Given the description of an element on the screen output the (x, y) to click on. 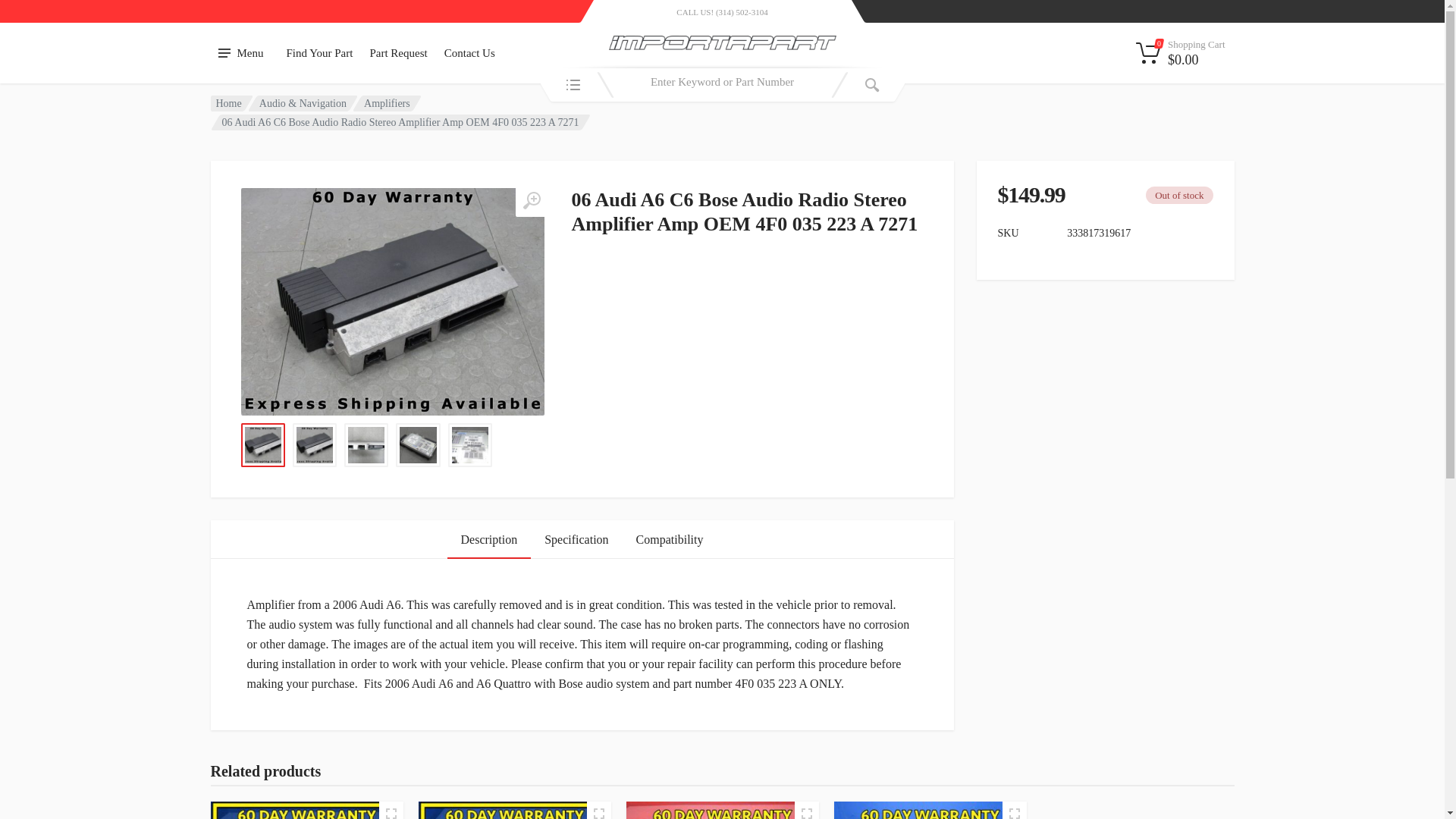
Specification (576, 539)
Find Your Part (319, 53)
Menu (241, 53)
Contact Us (469, 53)
Description (488, 539)
Home (228, 102)
Part Request (398, 53)
Compatibility (670, 539)
Amplifiers (387, 102)
